Given the description of an element on the screen output the (x, y) to click on. 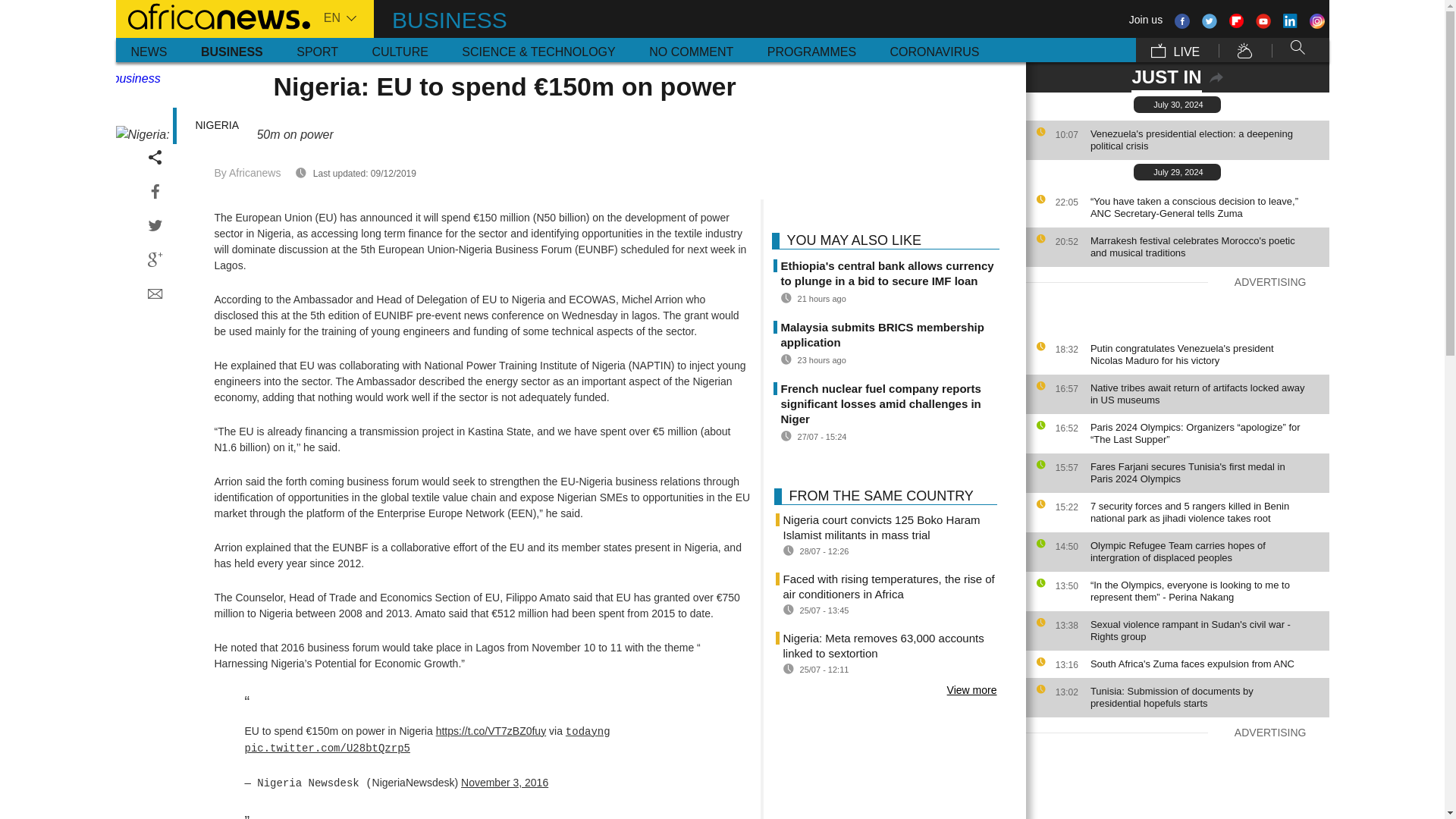
CORONAVIRUS (934, 49)
NEWS (148, 49)
BUSINESS (232, 49)
Programmes (811, 49)
SPORT (317, 49)
News (148, 49)
PROGRAMMES (811, 49)
No Comment (690, 49)
Coronavirus (934, 49)
Africanews (211, 15)
Sport (317, 49)
CULTURE (399, 49)
